Given the description of an element on the screen output the (x, y) to click on. 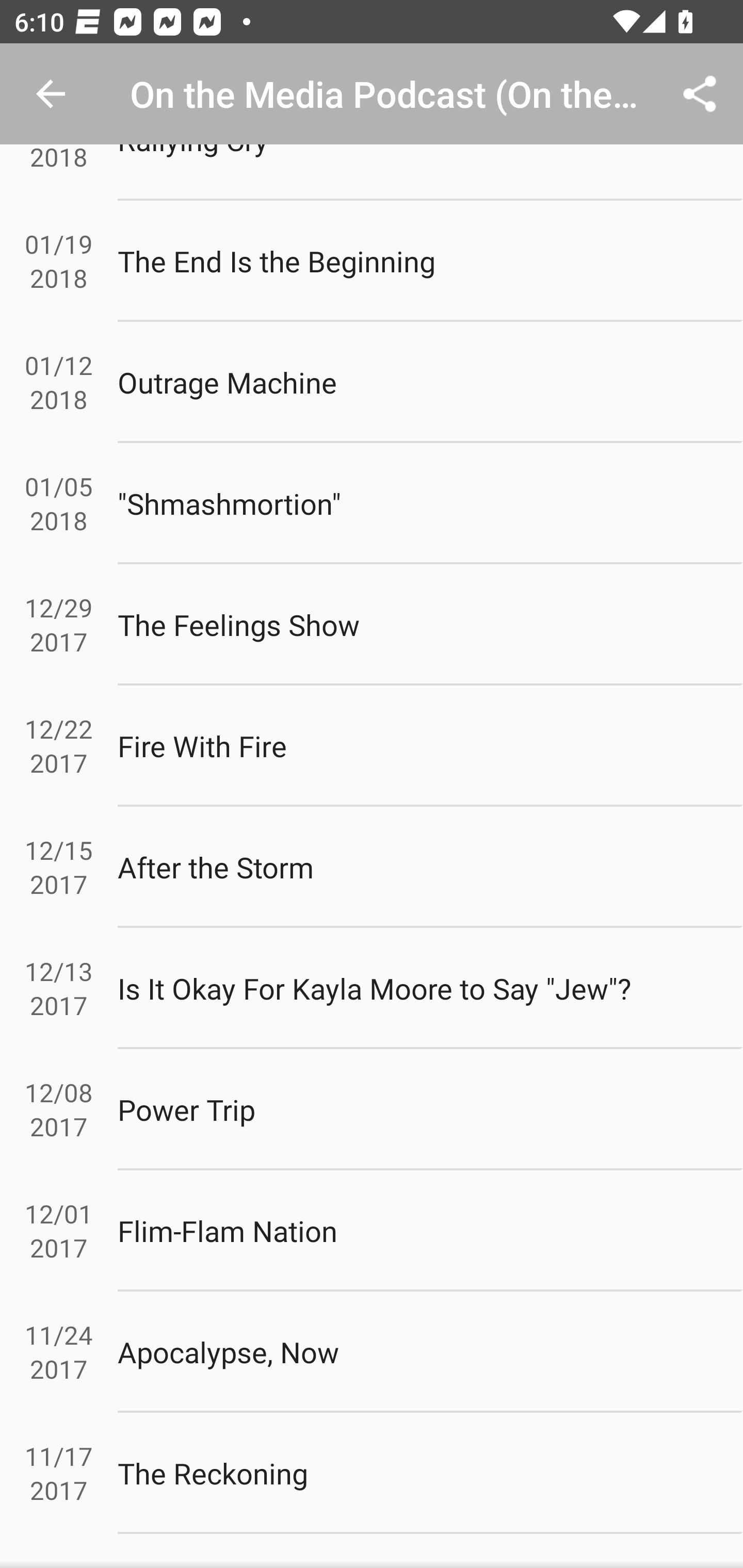
Navigate up (50, 93)
Share... (699, 93)
01/19 2018 The End Is the Beginning (371, 260)
01/12 2018 Outrage Machine (371, 382)
01/05 2018 "Shmashmortion" (371, 503)
12/29 2017 The Feelings Show (371, 624)
12/22 2017 Fire With Fire (371, 745)
12/15 2017 After the Storm (371, 866)
12/08 2017 Power Trip (371, 1108)
12/01 2017 Flim-Flam Nation (371, 1230)
11/24 2017 Apocalypse, Now (371, 1352)
11/17 2017 The Reckoning (371, 1472)
